Given the description of an element on the screen output the (x, y) to click on. 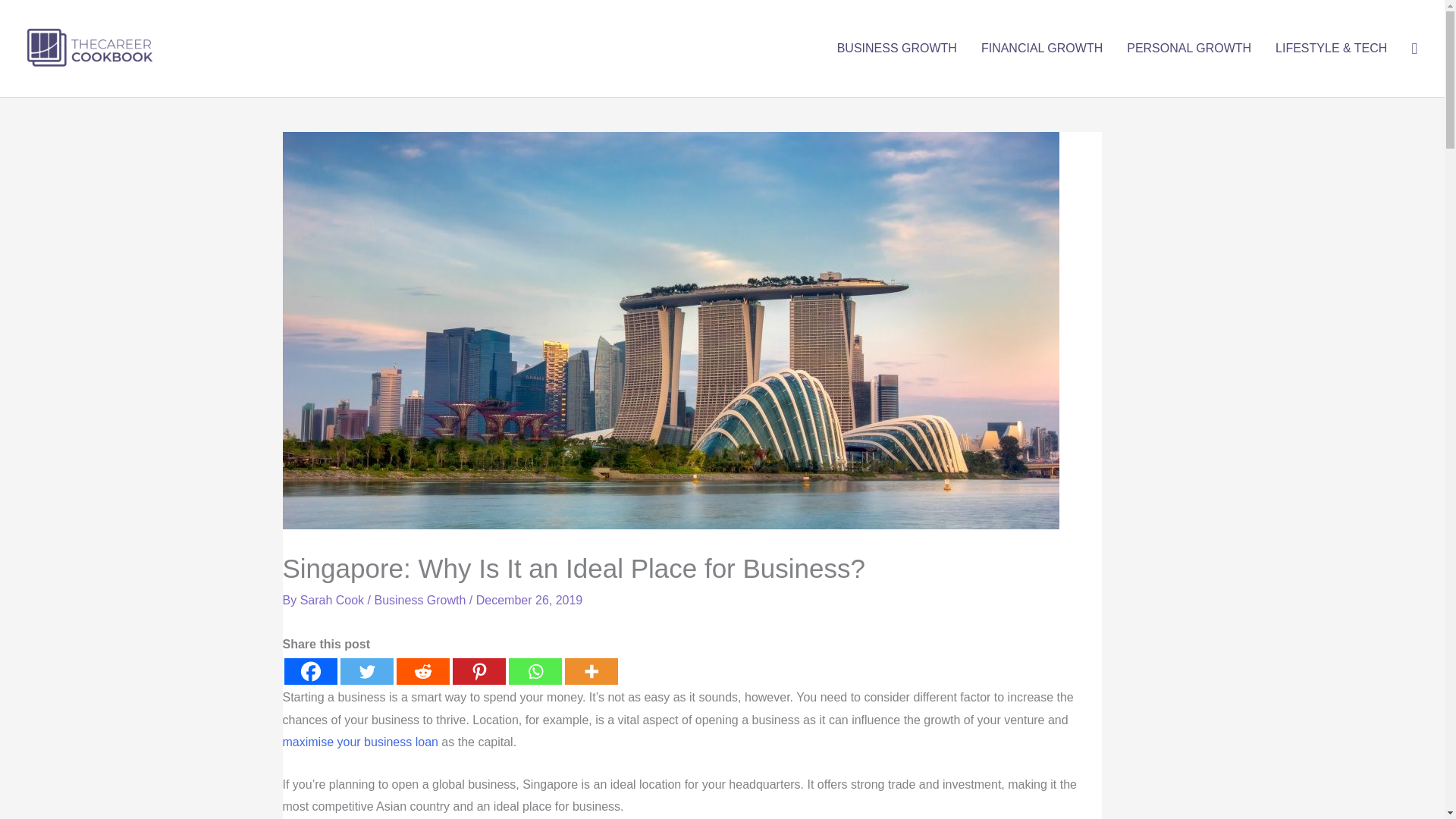
Twitter (366, 671)
Sarah Cook (333, 599)
Facebook (309, 671)
More (590, 671)
FINANCIAL GROWTH (1042, 48)
Capital Funds Investments (360, 741)
Reddit (422, 671)
BUSINESS GROWTH (897, 48)
Pinterest (478, 671)
Whatsapp (534, 671)
Business Growth (419, 599)
PERSONAL GROWTH (1189, 48)
View all posts by Sarah Cook (333, 599)
maximise your business loan (360, 741)
